Given the description of an element on the screen output the (x, y) to click on. 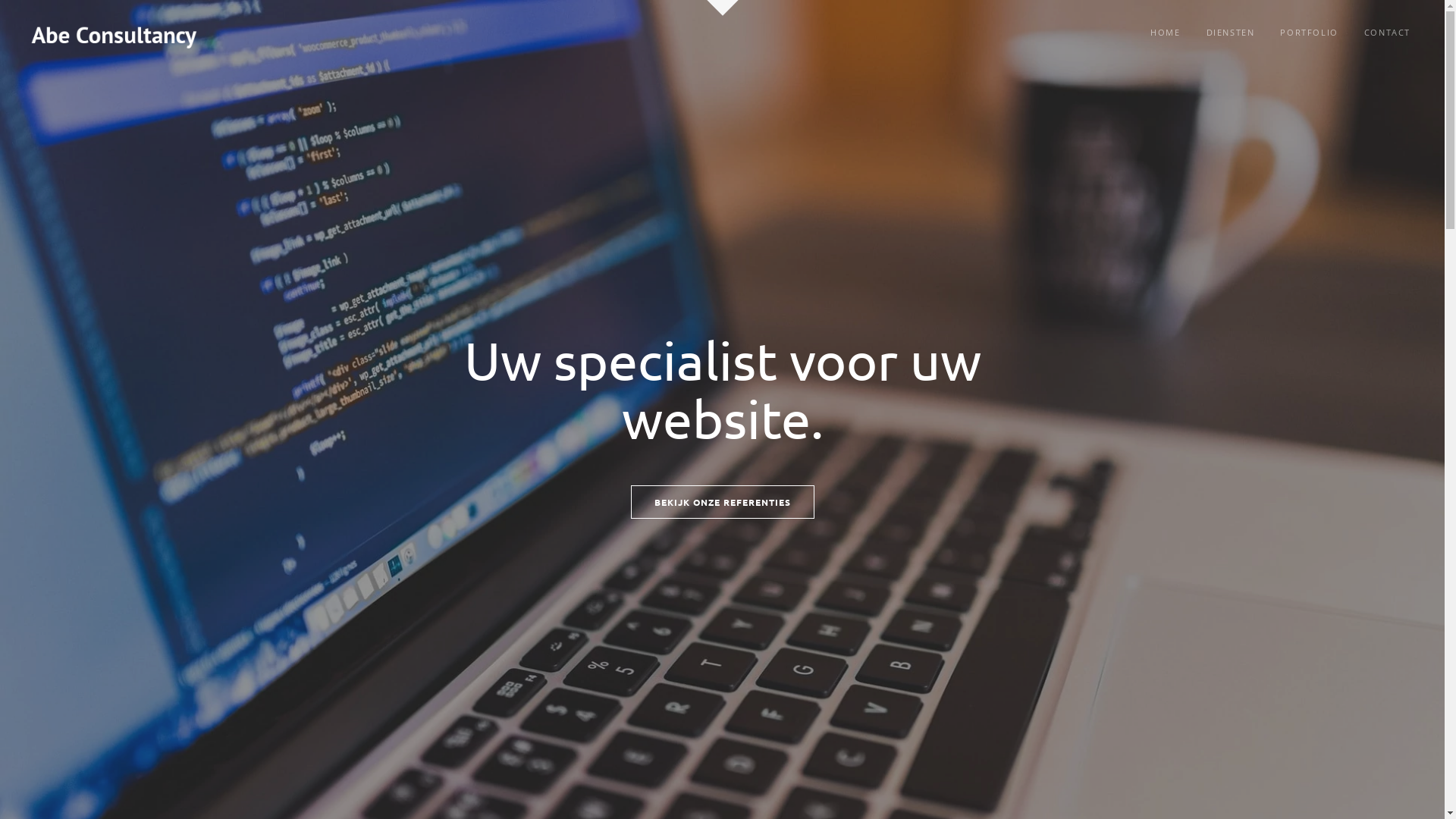
DIENSTEN Element type: text (1230, 32)
PORTFOLIO Element type: text (1308, 32)
BEKIJK ONZE REFERENTIES Element type: text (722, 501)
HOME Element type: text (1165, 32)
CONTACT Element type: text (1386, 32)
